Given the description of an element on the screen output the (x, y) to click on. 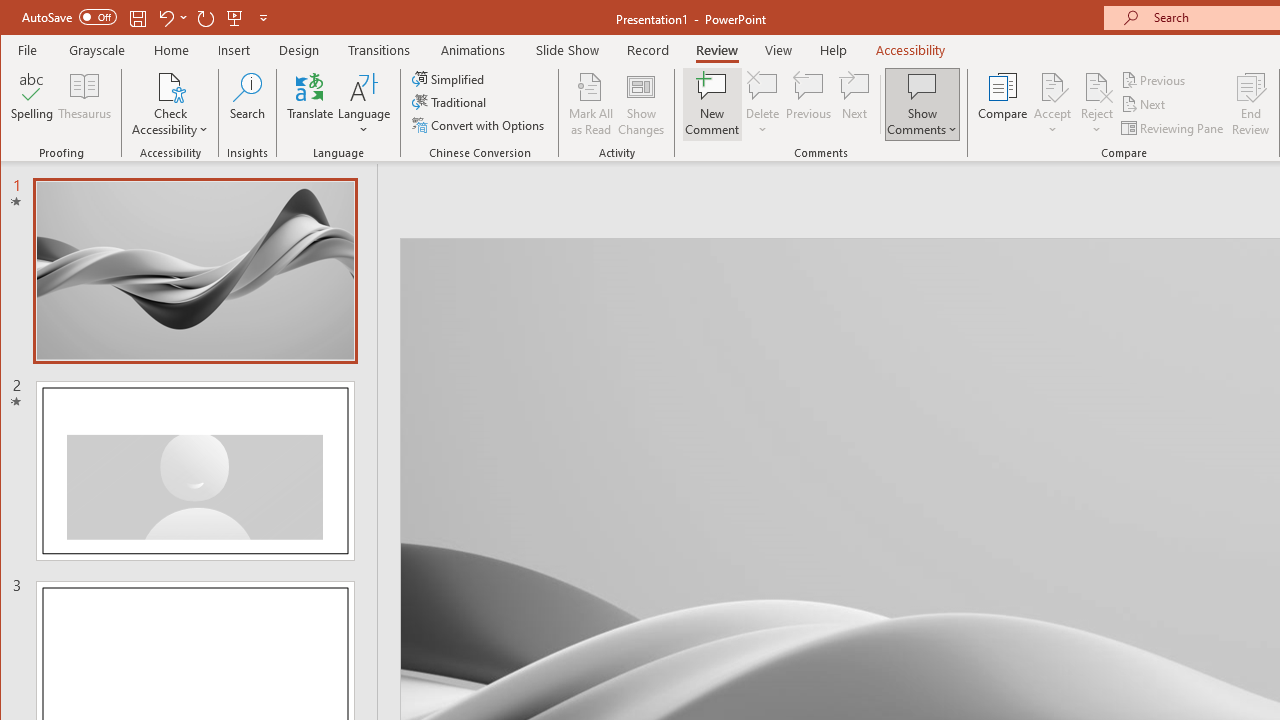
Reject (1096, 104)
Previous (1154, 80)
End Review (1251, 104)
Compare (1002, 104)
